Given the description of an element on the screen output the (x, y) to click on. 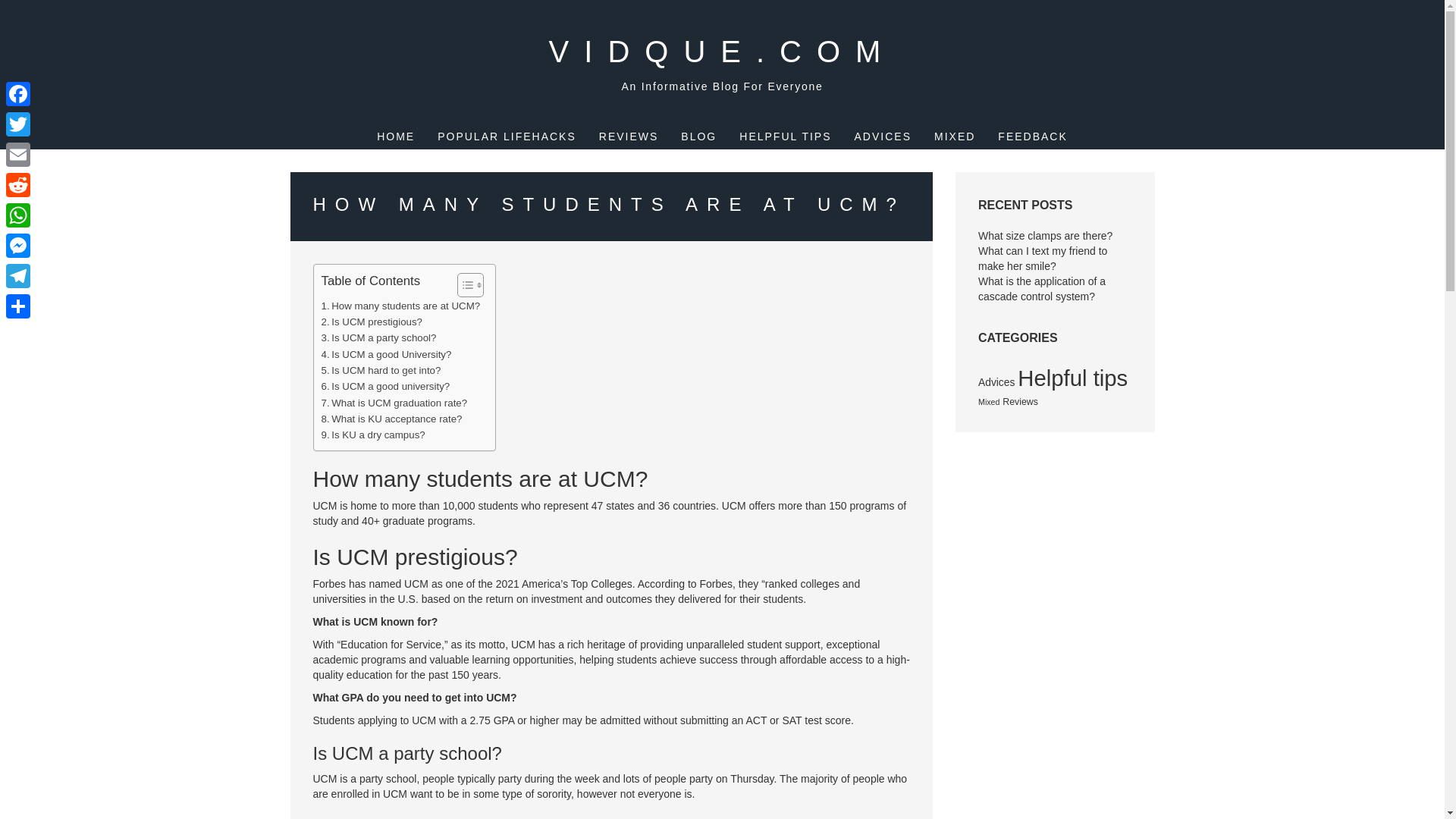
HELPFUL TIPS (785, 136)
FEEDBACK (1032, 136)
Is UCM a good university? (385, 385)
Is KU a dry campus? (373, 434)
Is UCM prestigious? (371, 321)
Is UCM hard to get into? (381, 370)
Twitter (17, 123)
Is UCM prestigious? (371, 321)
Is KU a dry campus? (373, 434)
What is KU acceptance rate? (392, 418)
